Given the description of an element on the screen output the (x, y) to click on. 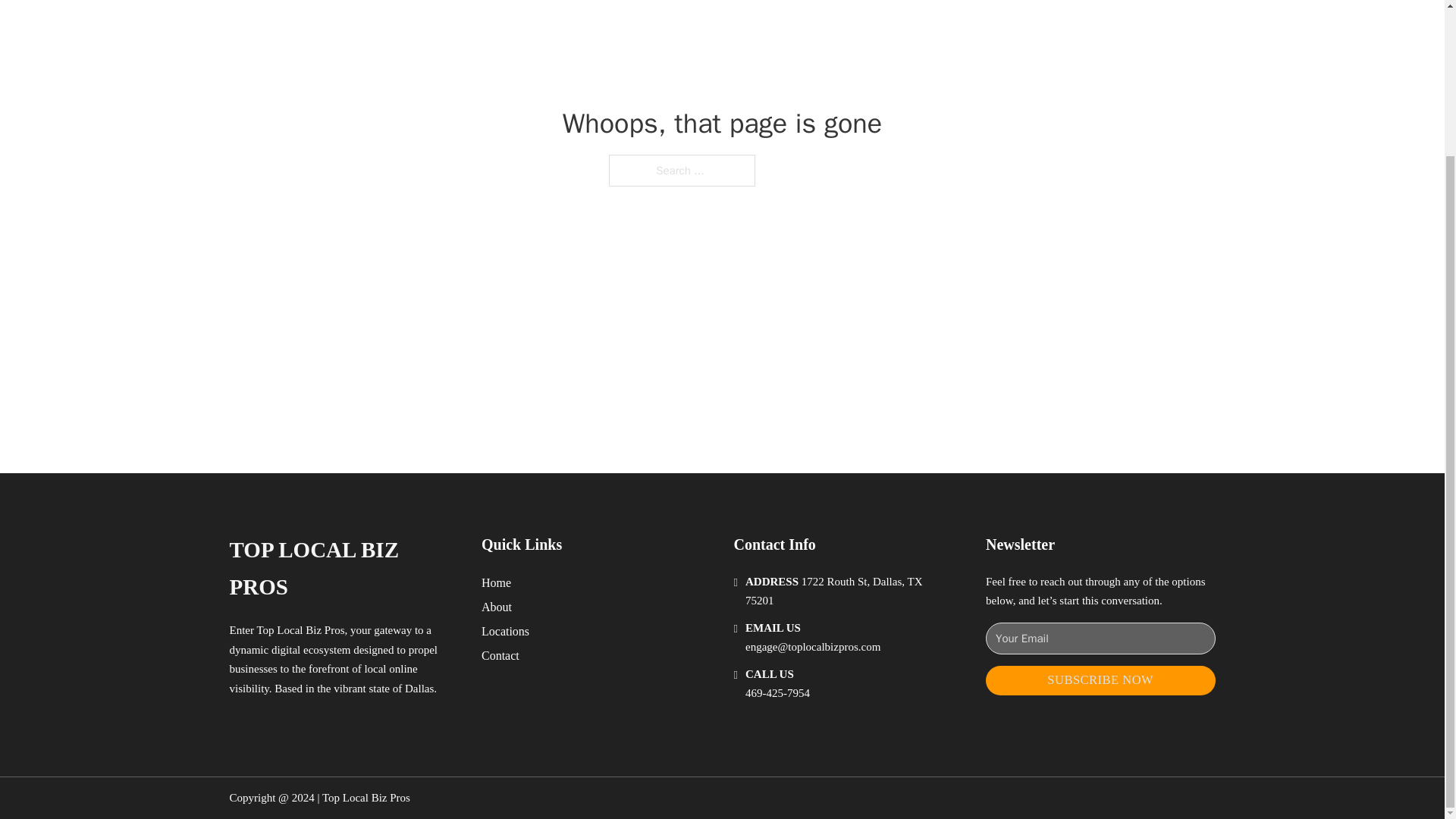
Locations (505, 630)
TOP LOCAL BIZ PROS (343, 568)
About (496, 607)
SUBSCRIBE NOW (1100, 680)
Home (496, 582)
Contact (500, 655)
469-425-7954 (777, 693)
